Given the description of an element on the screen output the (x, y) to click on. 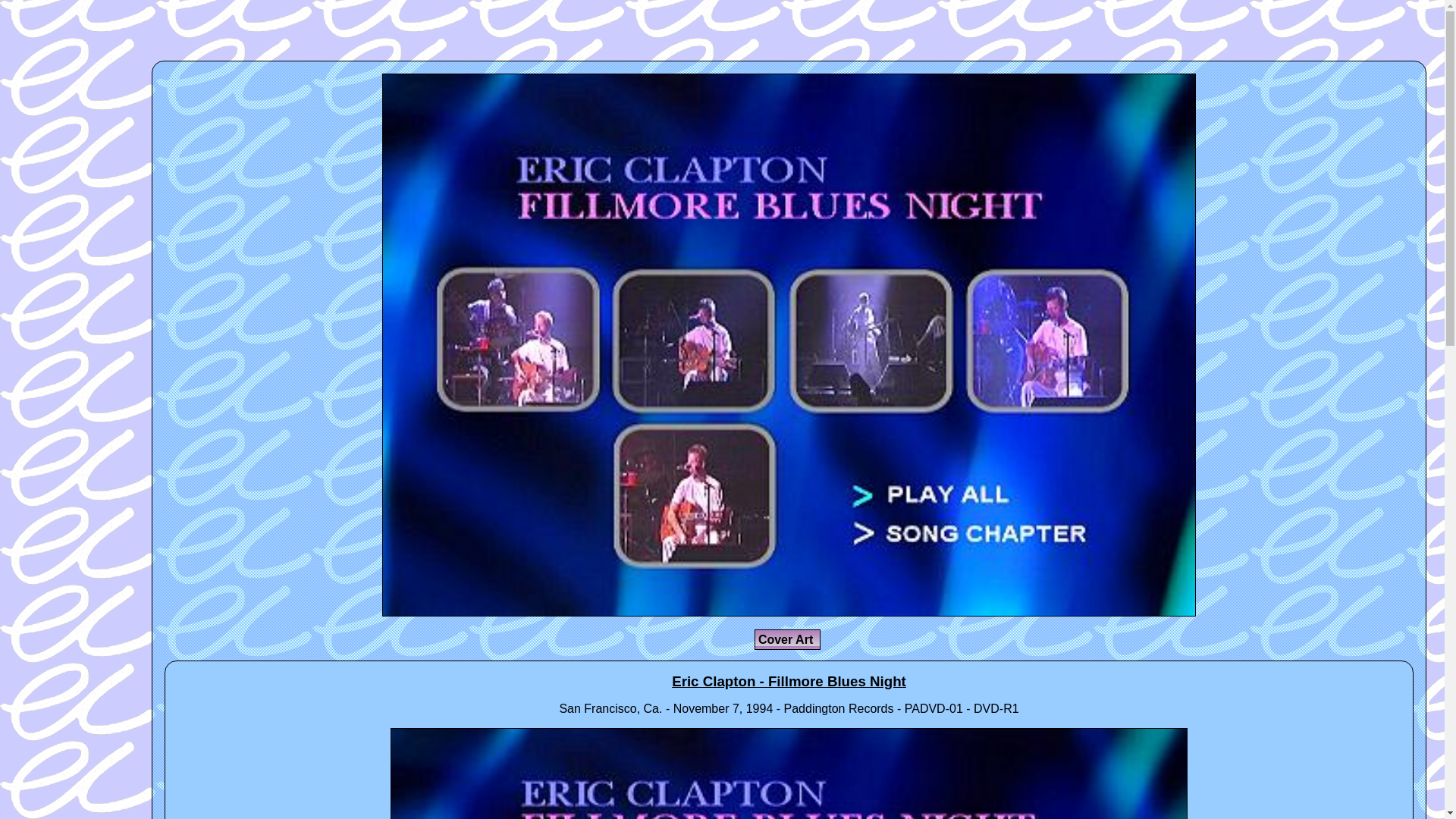
Cover Art  (787, 639)
